Given the description of an element on the screen output the (x, y) to click on. 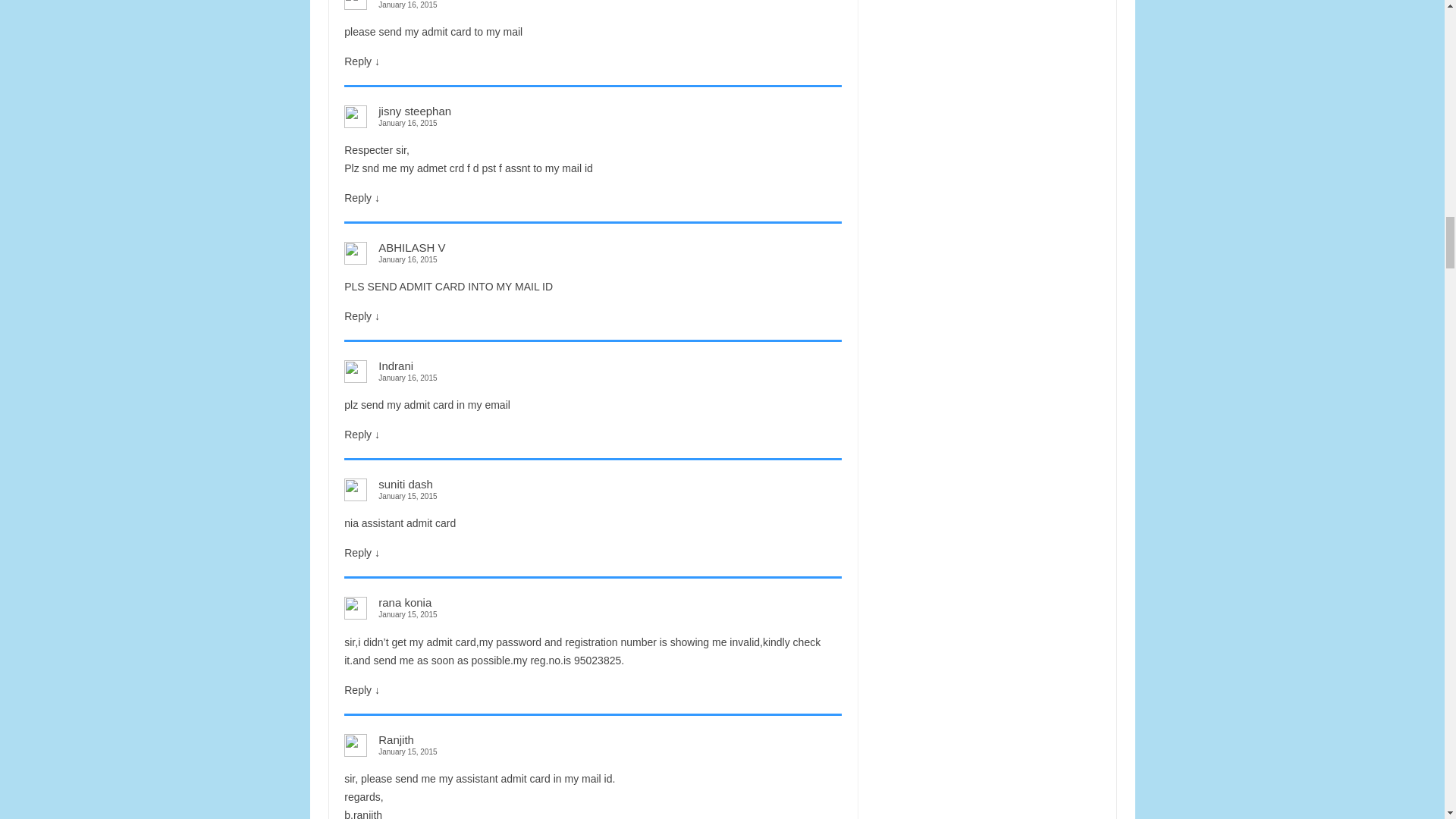
January 16, 2015 (592, 377)
January 16, 2015 (592, 5)
January 16, 2015 (592, 123)
January 16, 2015 (592, 259)
